Given the description of an element on the screen output the (x, y) to click on. 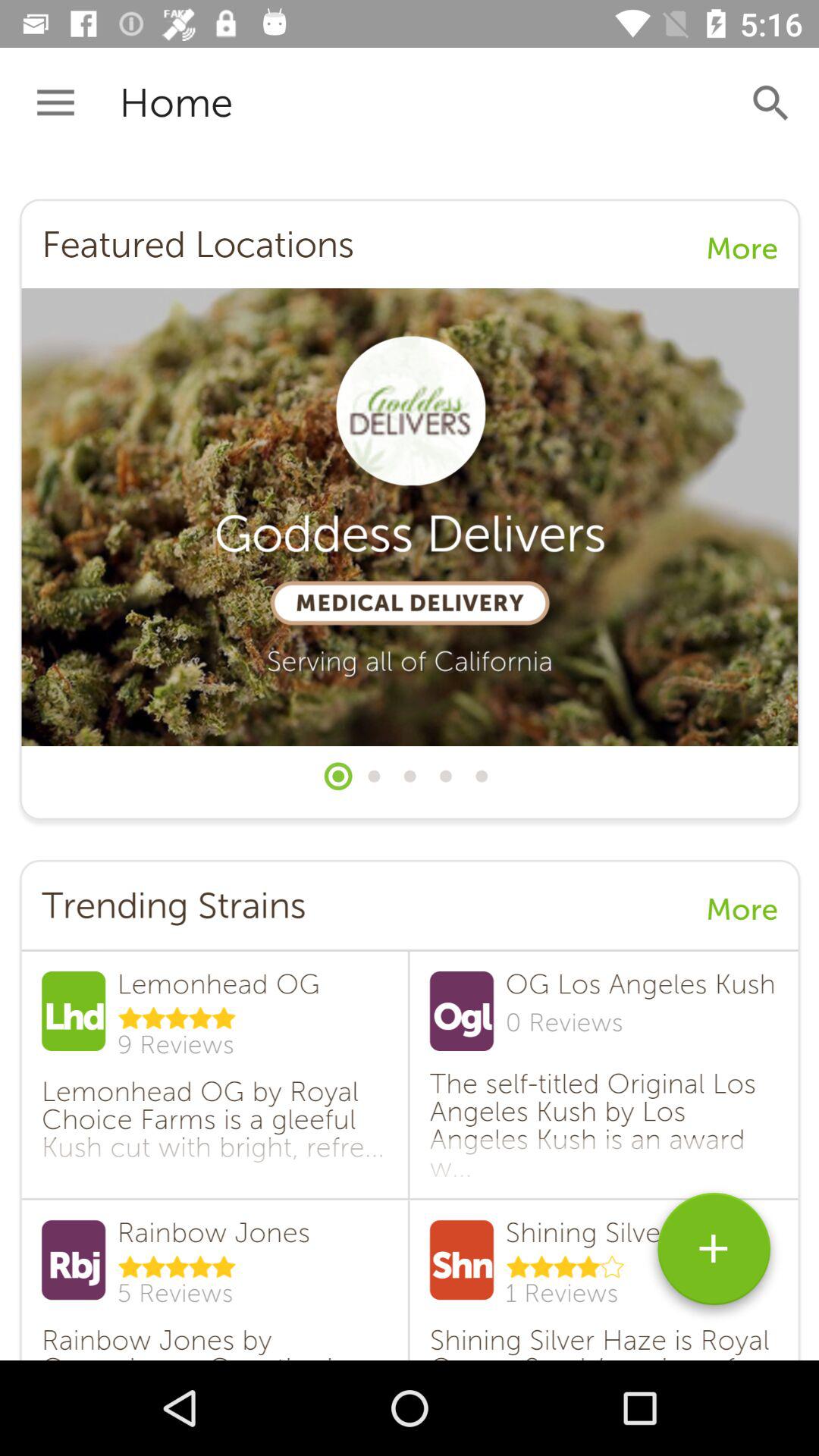
all selected content (409, 759)
